Given the description of an element on the screen output the (x, y) to click on. 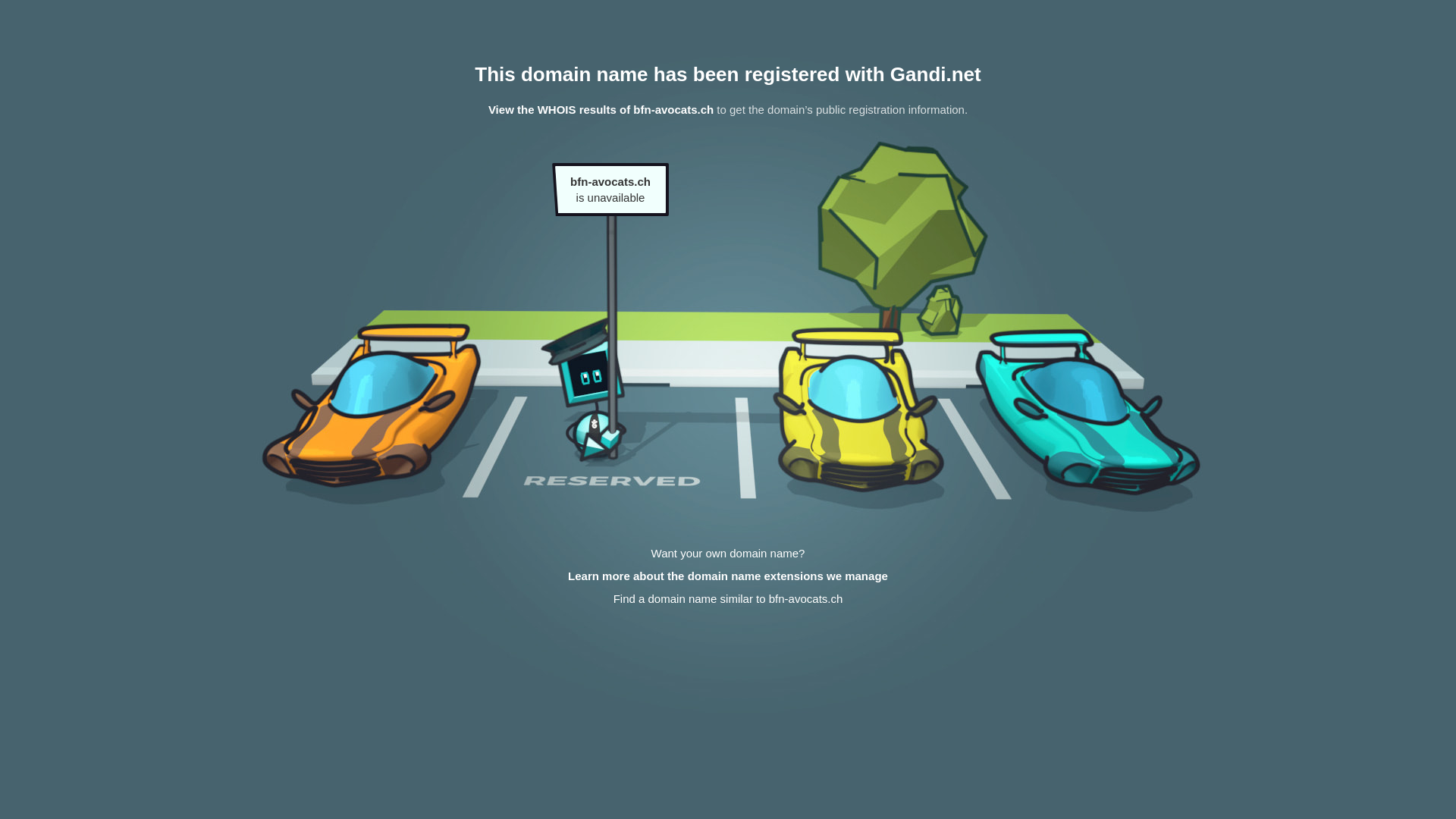
Find a domain name similar to bfn-avocats.ch Element type: text (728, 598)
Learn more about the domain name extensions we manage Element type: text (727, 575)
View the WHOIS results of bfn-avocats.ch Element type: text (600, 109)
